Given the description of an element on the screen output the (x, y) to click on. 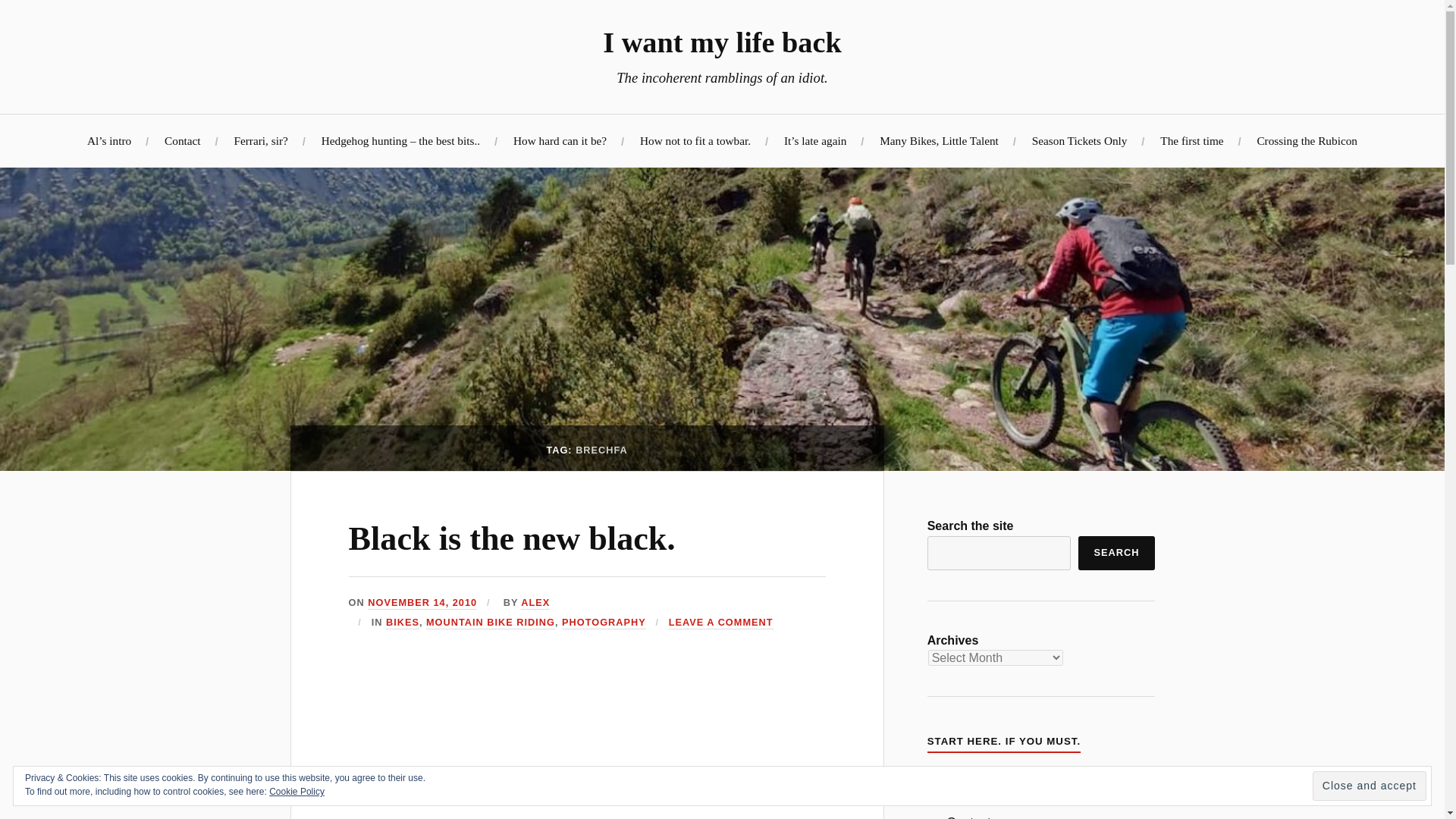
Close and accept (1369, 785)
SEARCH (1116, 553)
MOUNTAIN BIKE RIDING (490, 622)
PHOTOGRAPHY (604, 622)
Ferrari, sir? (259, 140)
LEAVE A COMMENT (720, 622)
NOVEMBER 14, 2010 (422, 603)
Season Tickets Only (1079, 140)
Al's intro (970, 785)
How hard can it be? (560, 140)
How not to fit a towbar. (695, 140)
Contact (182, 140)
Black is the new black. (512, 538)
Crossing the Rubicon (1306, 140)
BIKES (402, 622)
